Given the description of an element on the screen output the (x, y) to click on. 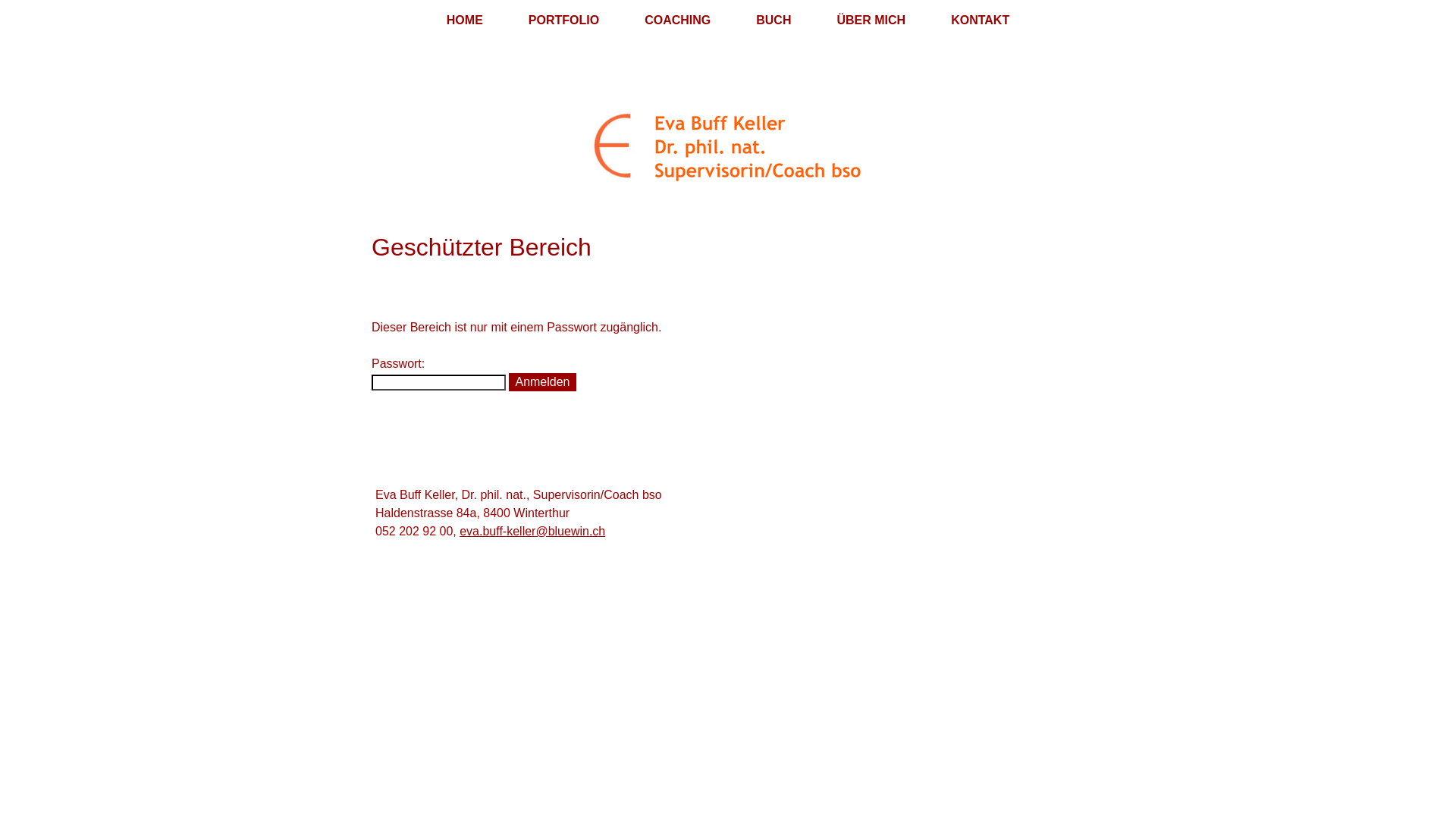
Home Element type: text (550, 667)
Bearbeiten Element type: text (477, 721)
COACHING Element type: text (677, 20)
Buch Element type: text (750, 667)
eva.buff-keller@bluewin.ch Element type: text (532, 530)
Abmelden Element type: text (407, 721)
PORTFOLIO Element type: text (563, 20)
Coaching Element type: text (684, 667)
HOME Element type: text (464, 20)
KONTAKT Element type: text (980, 20)
BUCH Element type: text (773, 20)
Anmelden Element type: text (541, 382)
Kontakt Element type: text (895, 667)
Portfolio Element type: text (610, 667)
